Given the description of an element on the screen output the (x, y) to click on. 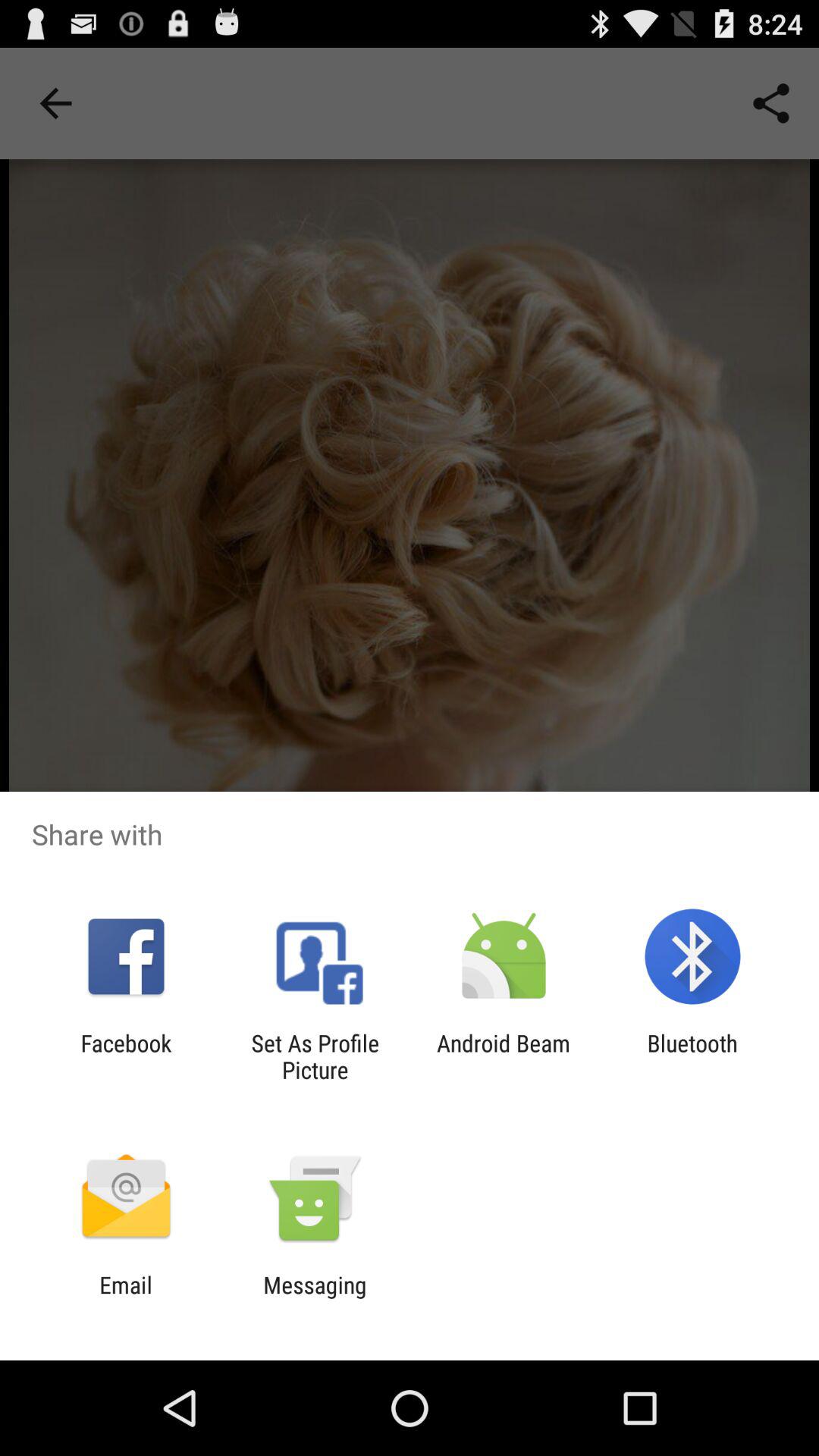
open the item next to android beam app (692, 1056)
